Given the description of an element on the screen output the (x, y) to click on. 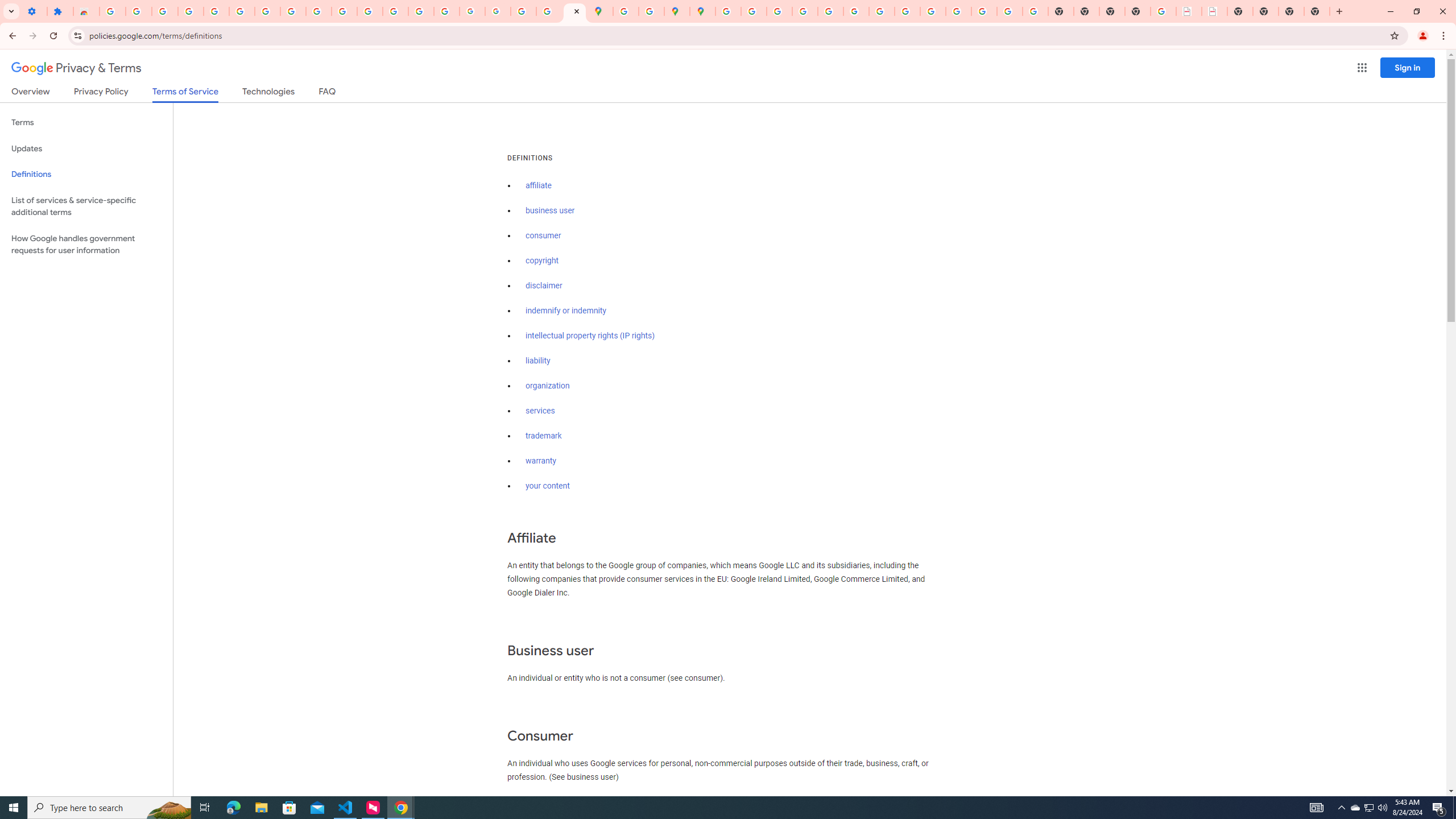
Google Maps (600, 11)
https://scholar.google.com/ (369, 11)
business user (550, 210)
Settings - On startup (34, 11)
Delete photos & videos - Computer - Google Photos Help (165, 11)
Privacy & Terms (76, 68)
